Given the description of an element on the screen output the (x, y) to click on. 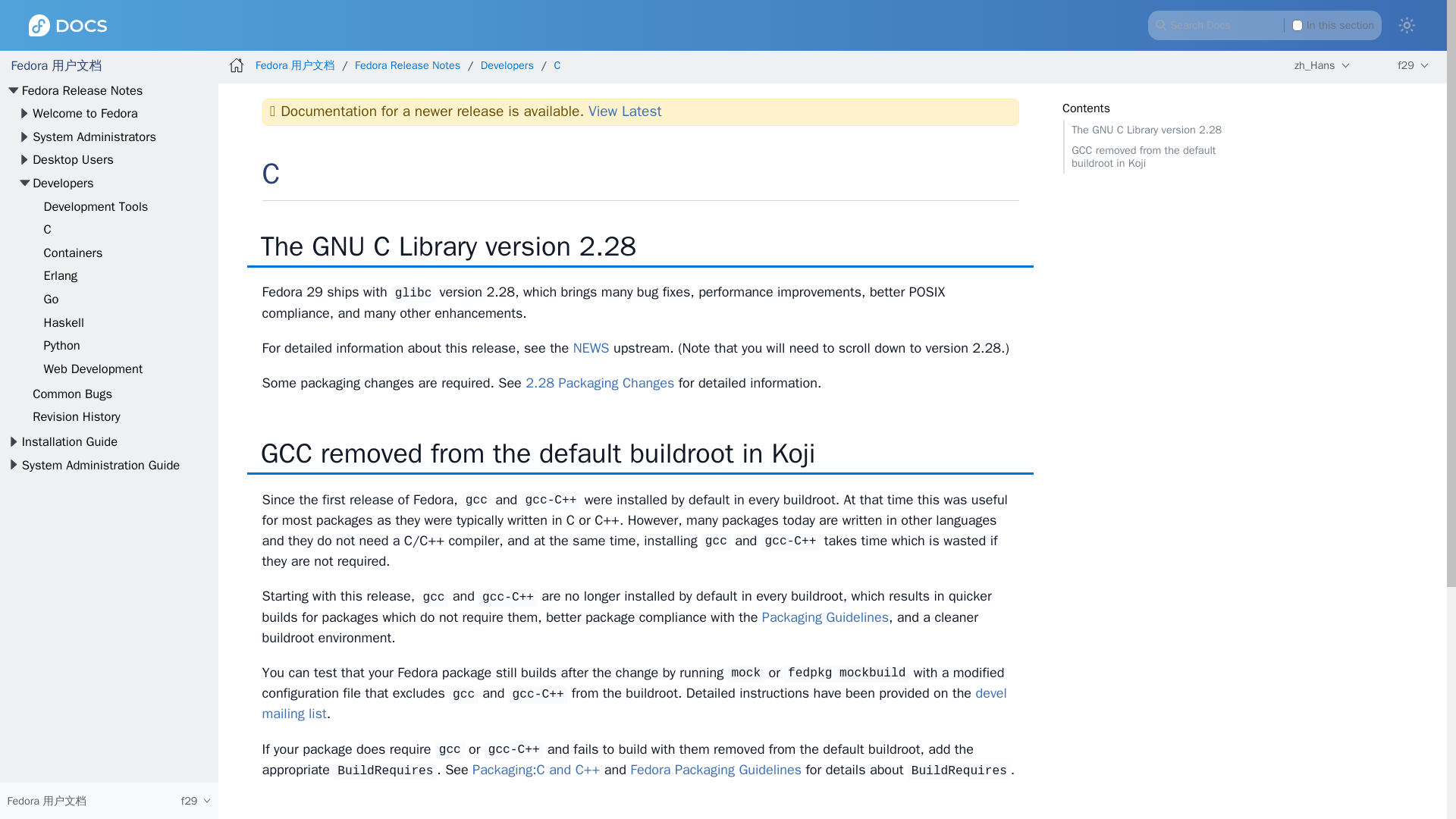
Common Bugs (72, 393)
Show other languages of the site (1320, 65)
Installation Guide (69, 441)
Containers (73, 252)
Development Tools (95, 206)
Desktop Users (72, 159)
on (1297, 24)
Web Development (92, 368)
Welcome to Fedora (85, 113)
Show other versions of page (1413, 65)
Fedora Release Notes (81, 90)
Revision History (75, 416)
System Administrators (93, 136)
Developers (62, 182)
Go (51, 299)
